Given the description of an element on the screen output the (x, y) to click on. 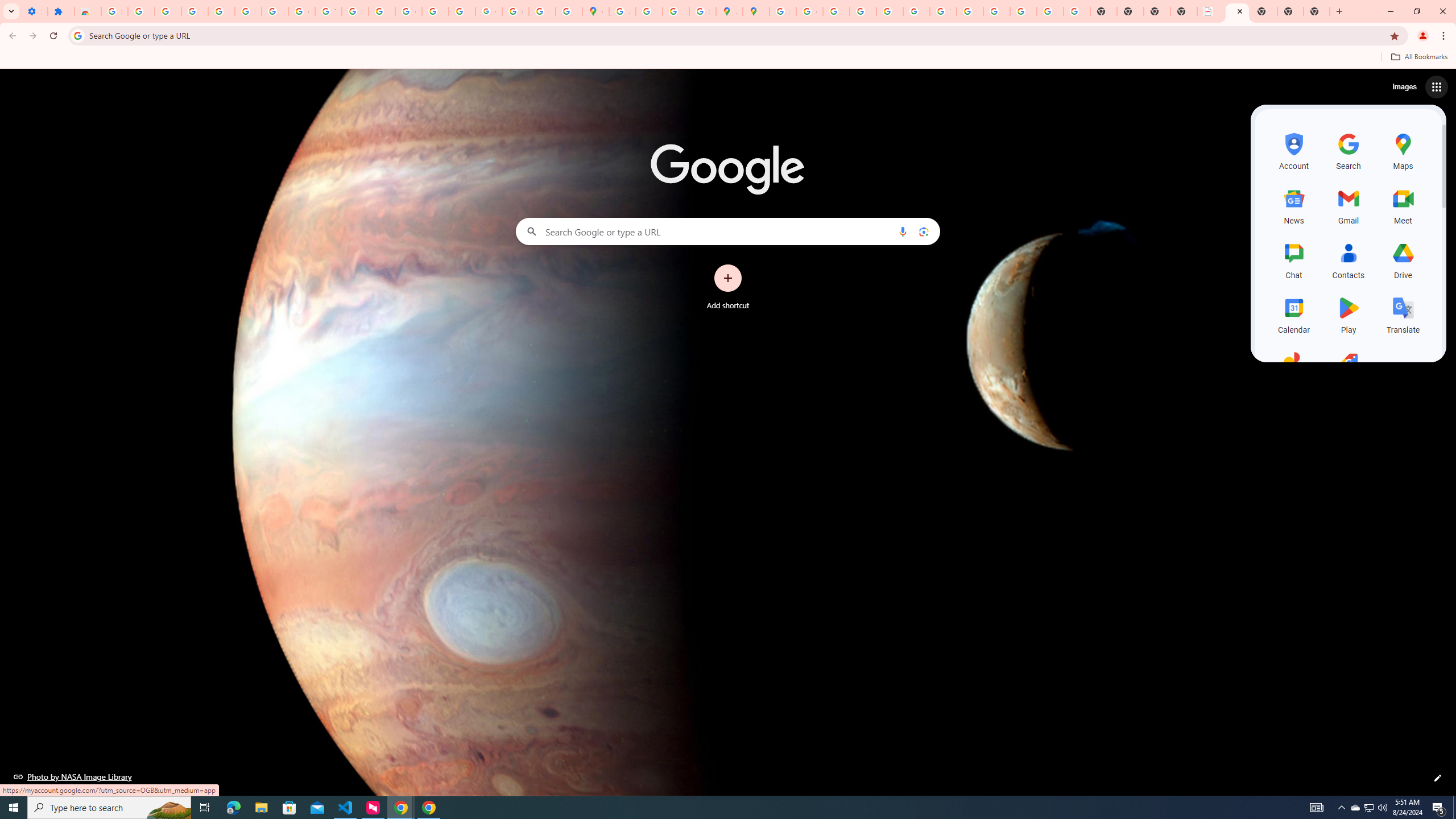
Maps, row 1 of 5 and column 3 of 3 in the first section (1402, 149)
Contacts, row 3 of 5 and column 2 of 3 in the first section (1348, 259)
Settings - On startup (34, 11)
Privacy Help Center - Policies Help (836, 11)
Photo by NASA Image Library (72, 776)
